Given the description of an element on the screen output the (x, y) to click on. 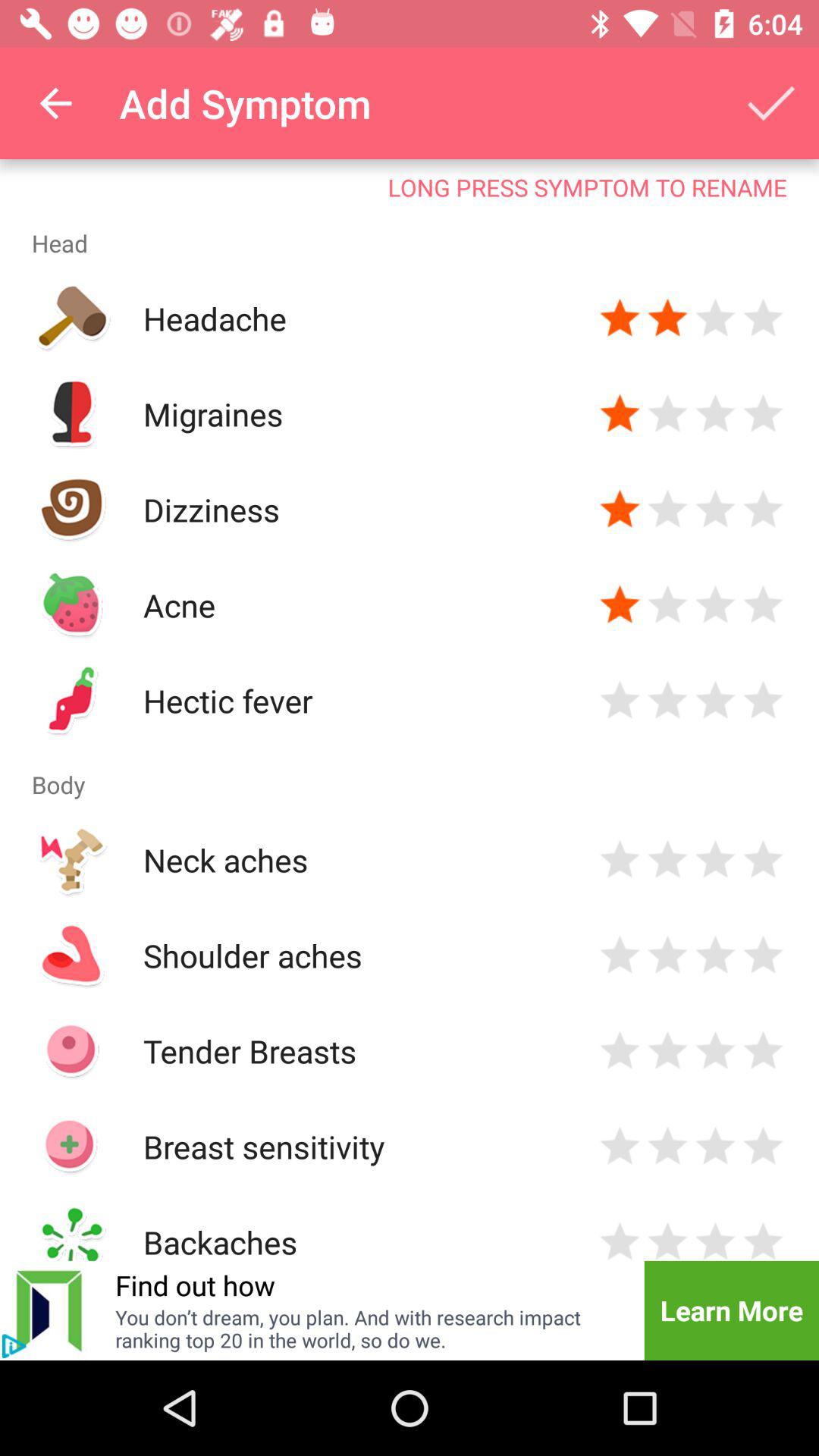
rank 2 (667, 1146)
